Given the description of an element on the screen output the (x, y) to click on. 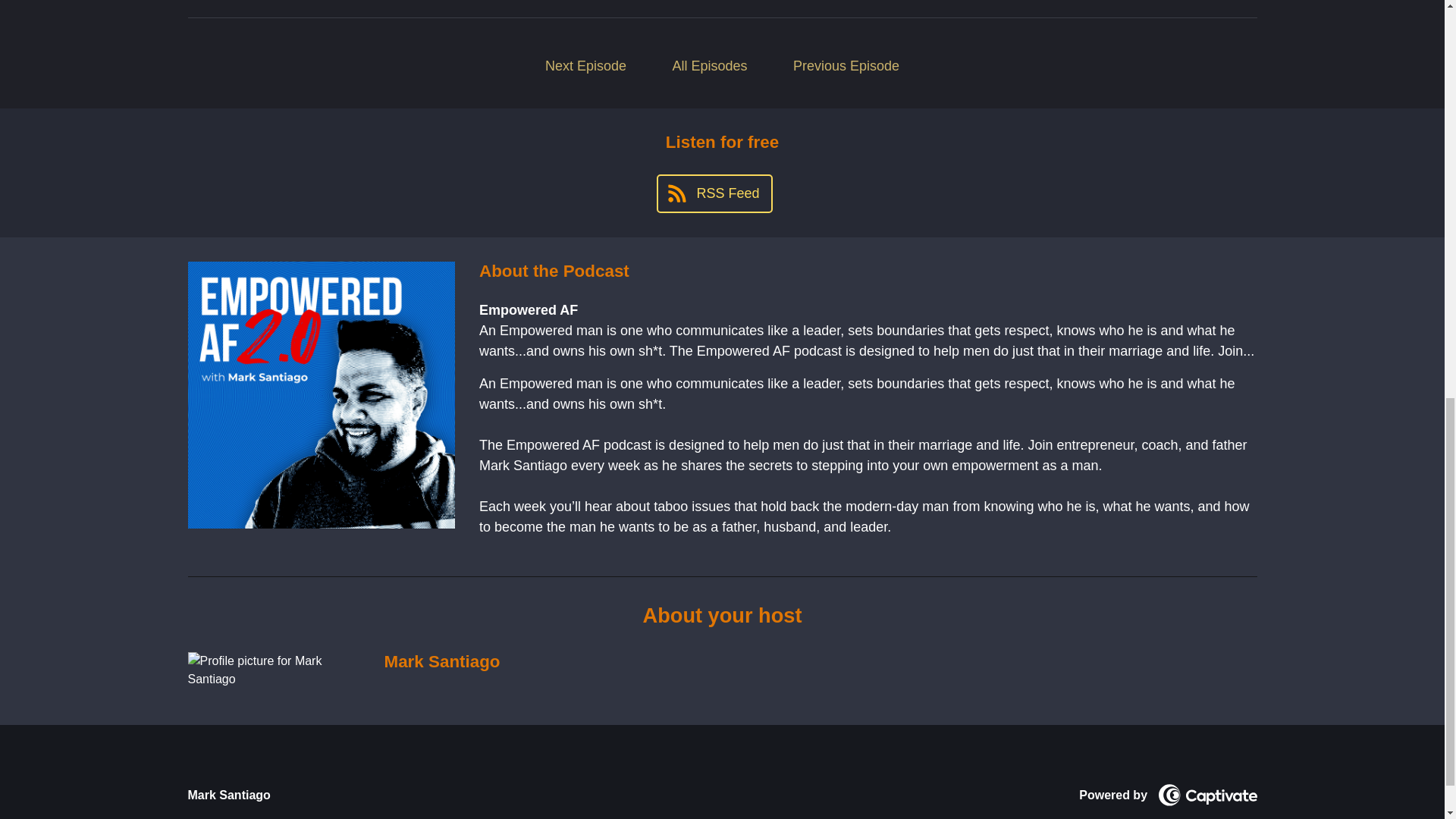
Next Episode (585, 66)
RSS Feed (713, 193)
All Episodes (709, 66)
Previous Episode (845, 66)
